Given the description of an element on the screen output the (x, y) to click on. 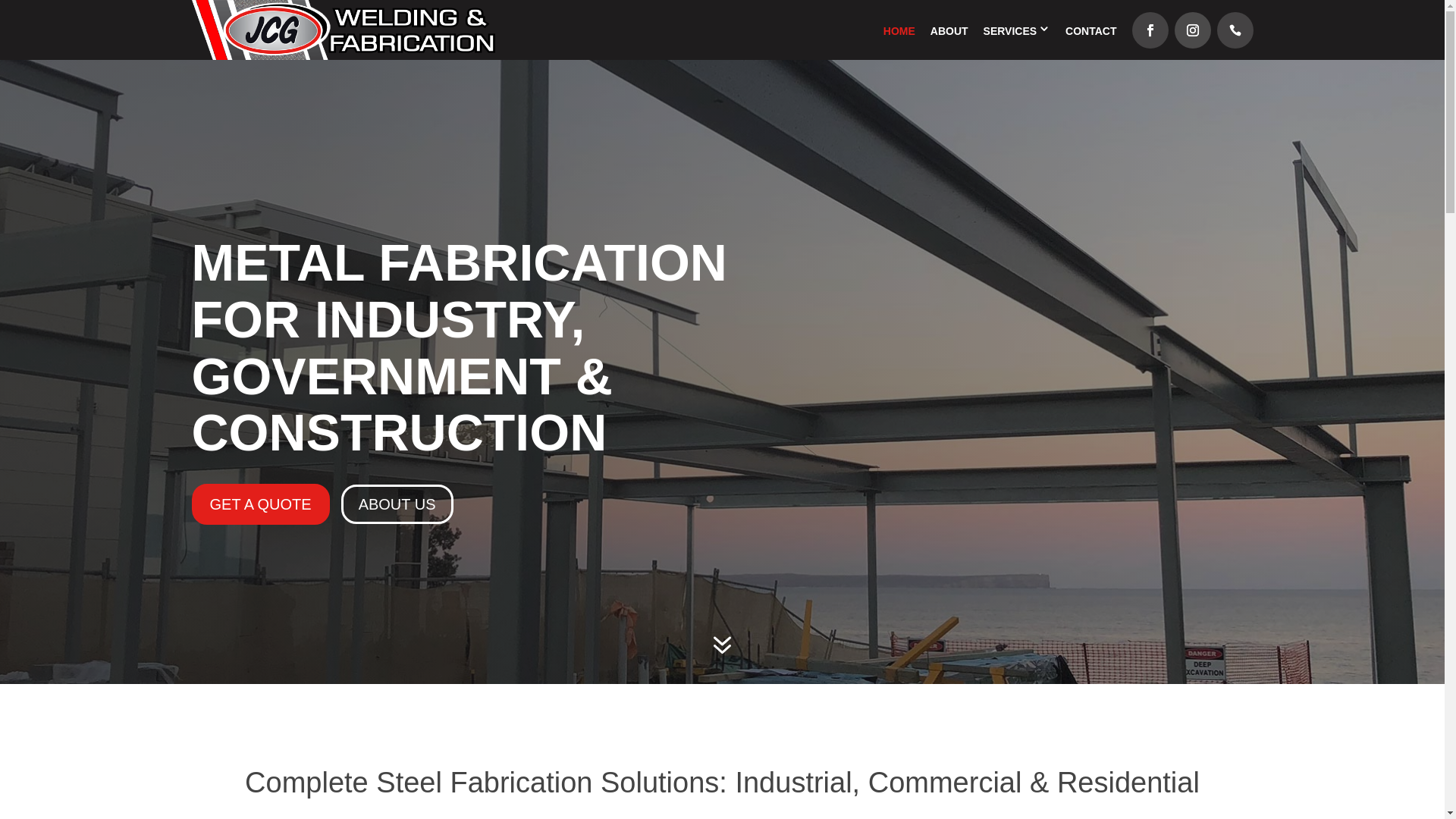
Follow on Facebook Element type: hover (1149, 30)
CONTACT Element type: text (1090, 31)
GET A QUOTE Element type: text (260, 503)
HOME Element type: text (899, 31)
ABOUT Element type: text (949, 31)
SERVICES Element type: text (1010, 31)
ABOUT US Element type: text (397, 504)
Call Us Element type: hover (1234, 30)
7 Element type: text (721, 647)
Follow on Instagram Element type: hover (1191, 30)
